Given the description of an element on the screen output the (x, y) to click on. 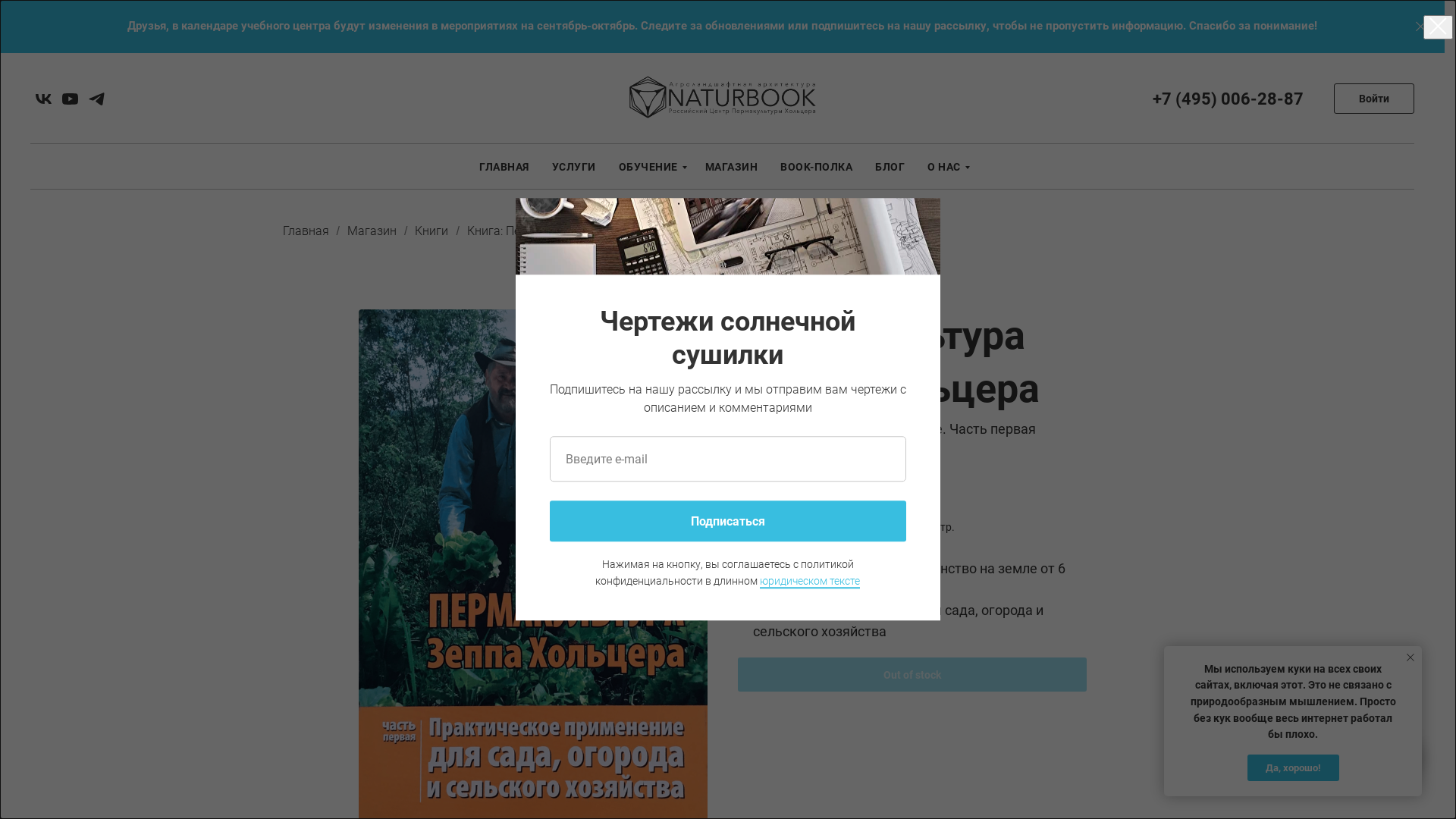
Out of stock Element type: text (911, 674)
+7 (495) 006-28-87 Element type: text (1227, 98)
Close Element type: text (1420, 26)
